Given the description of an element on the screen output the (x, y) to click on. 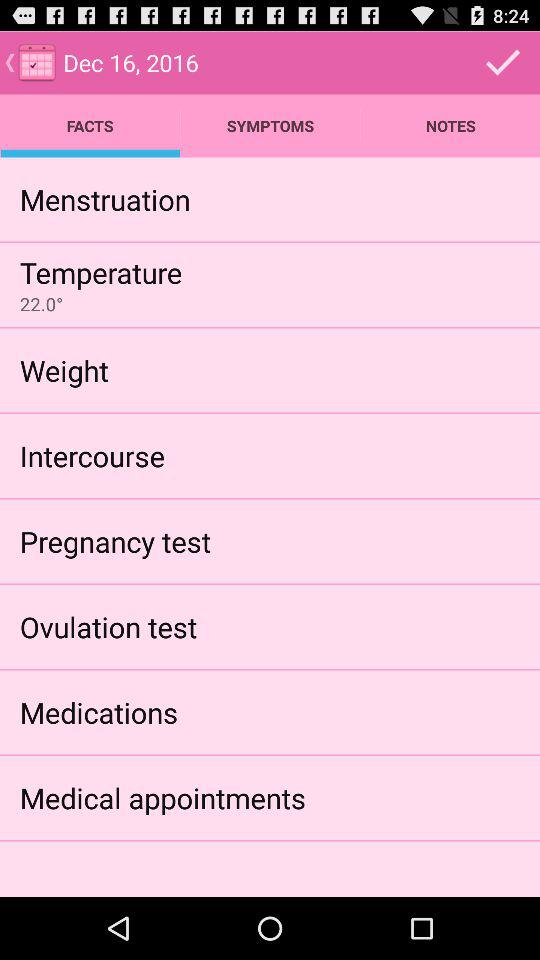
choose the item below the medications app (162, 797)
